Given the description of an element on the screen output the (x, y) to click on. 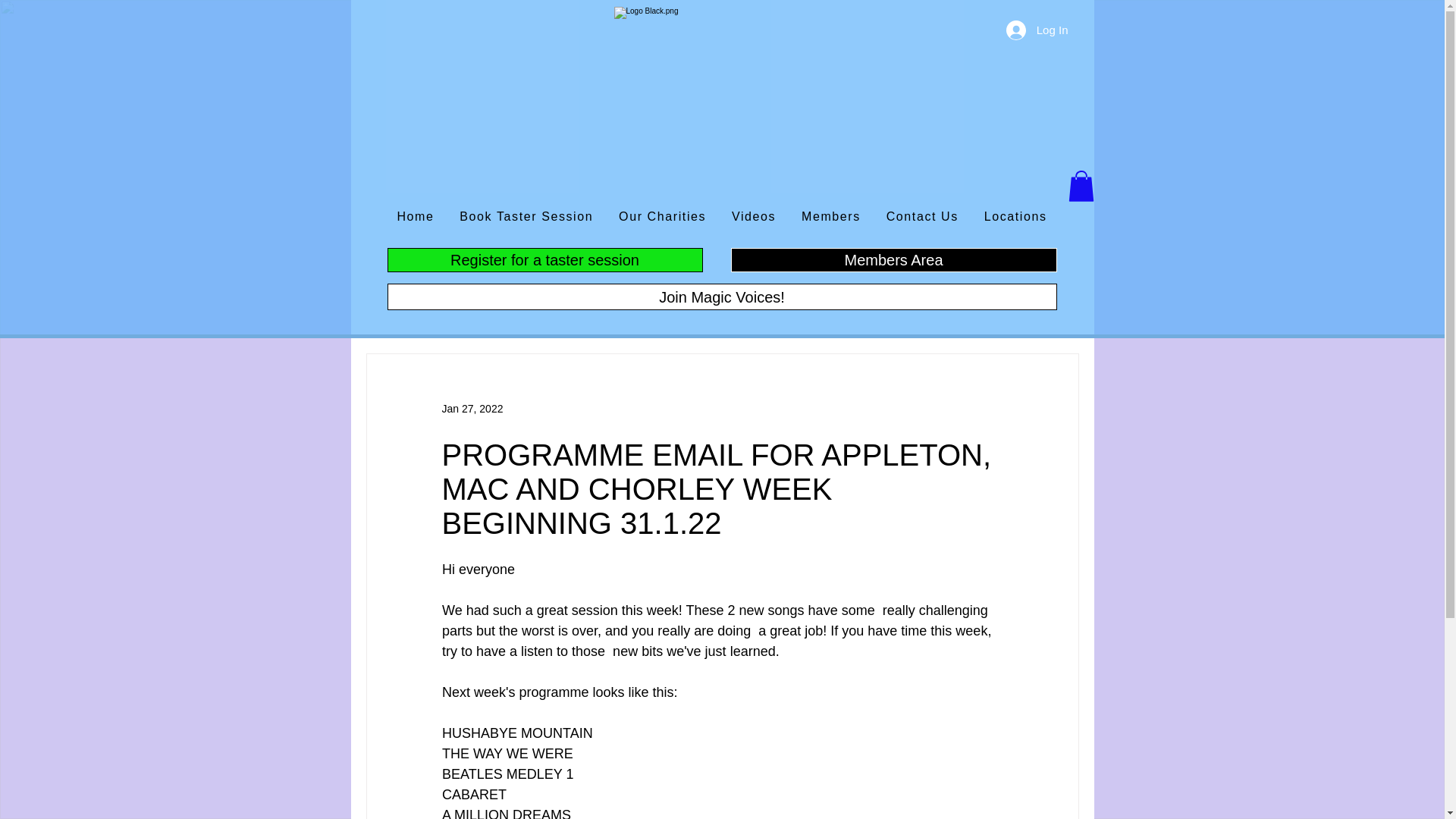
Home (415, 217)
Join Magic Voices! (722, 296)
Members Area (893, 259)
Our Charities (662, 217)
Contact Us (922, 217)
Members (831, 217)
Book Taster Session (525, 217)
Locations (1015, 217)
Register for a taster session (544, 259)
Log In (1036, 29)
Jan 27, 2022 (471, 408)
Videos (754, 217)
